Given the description of an element on the screen output the (x, y) to click on. 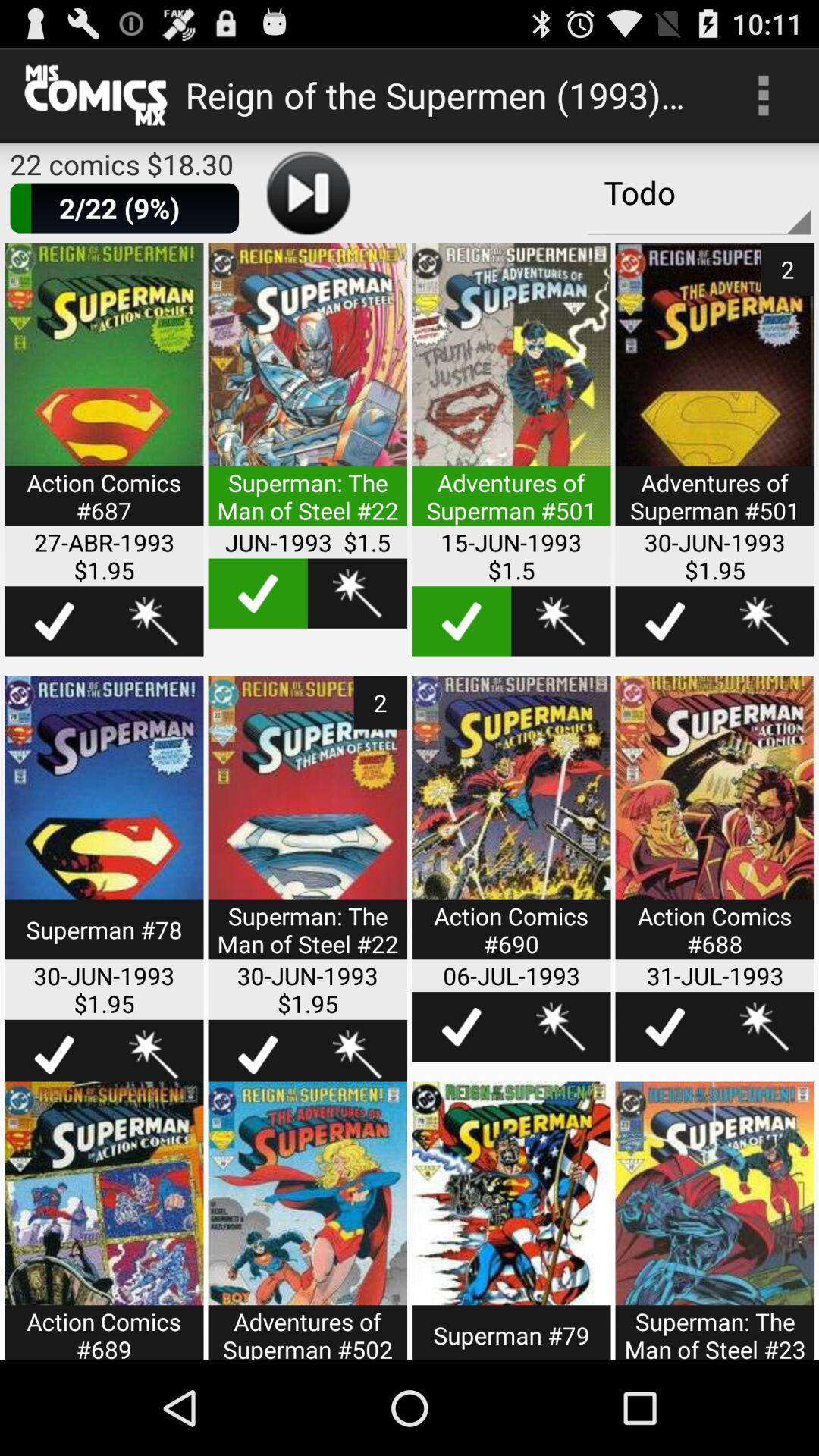
magic wand (764, 621)
